Given the description of an element on the screen output the (x, y) to click on. 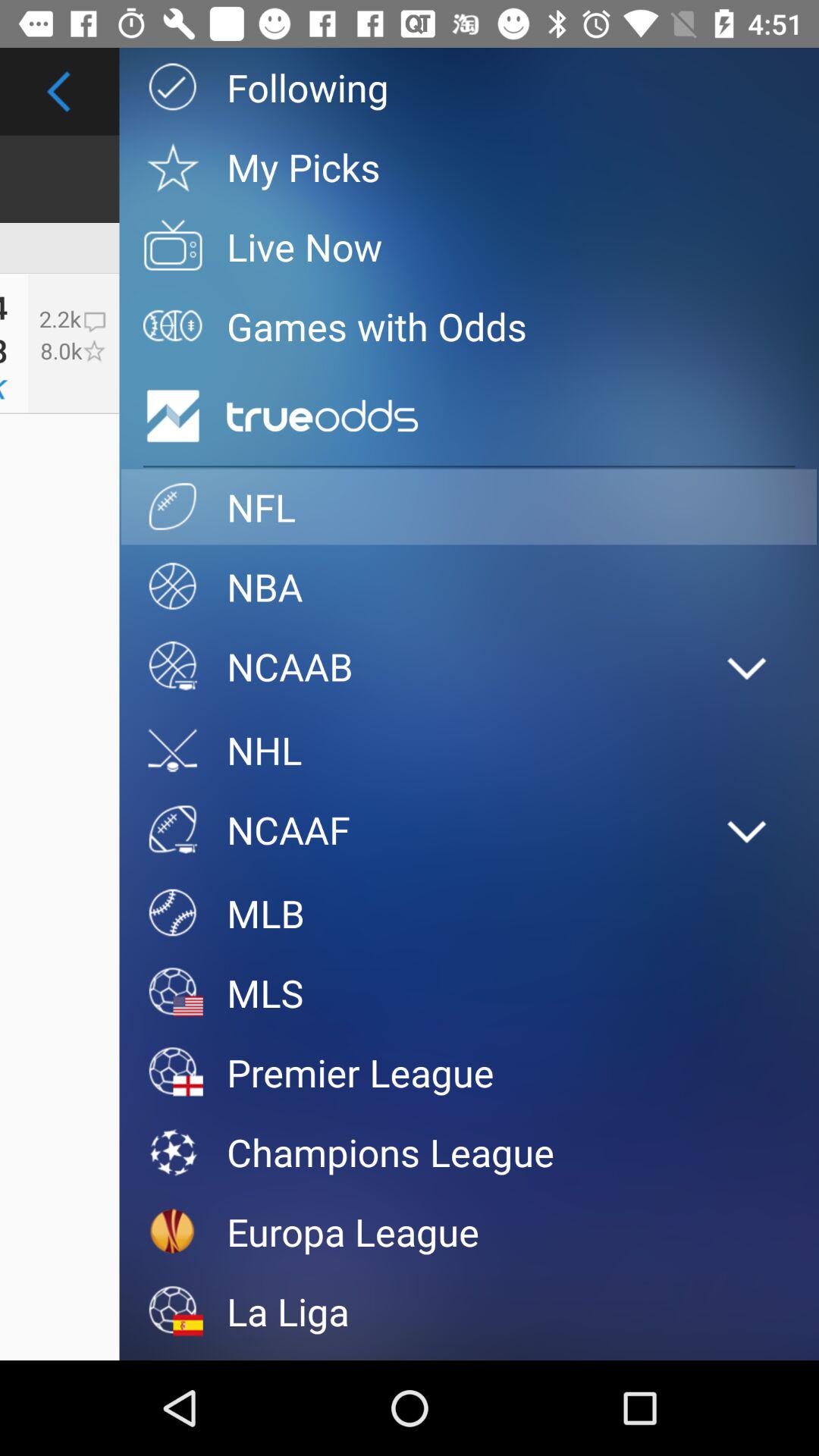
swipe until bundesliga (469, 1355)
